Given the description of an element on the screen output the (x, y) to click on. 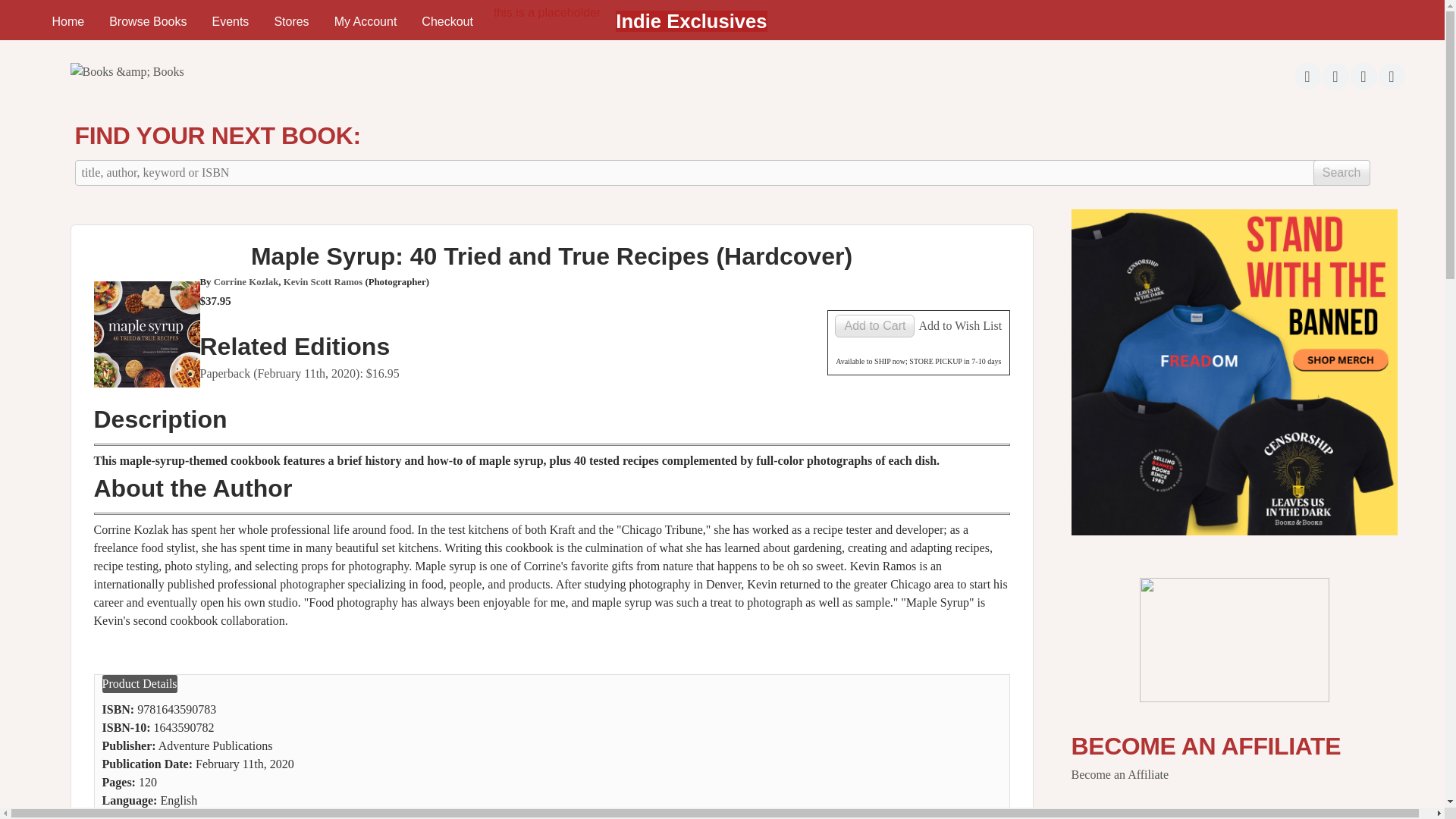
Indie Exclusives (691, 20)
Add to Cart (874, 325)
Search (1341, 172)
Become an Affiliate (1119, 774)
Checkout (446, 22)
Home (67, 22)
Browse Books (147, 22)
Add to Wish List (959, 325)
Events (229, 22)
